Given the description of an element on the screen output the (x, y) to click on. 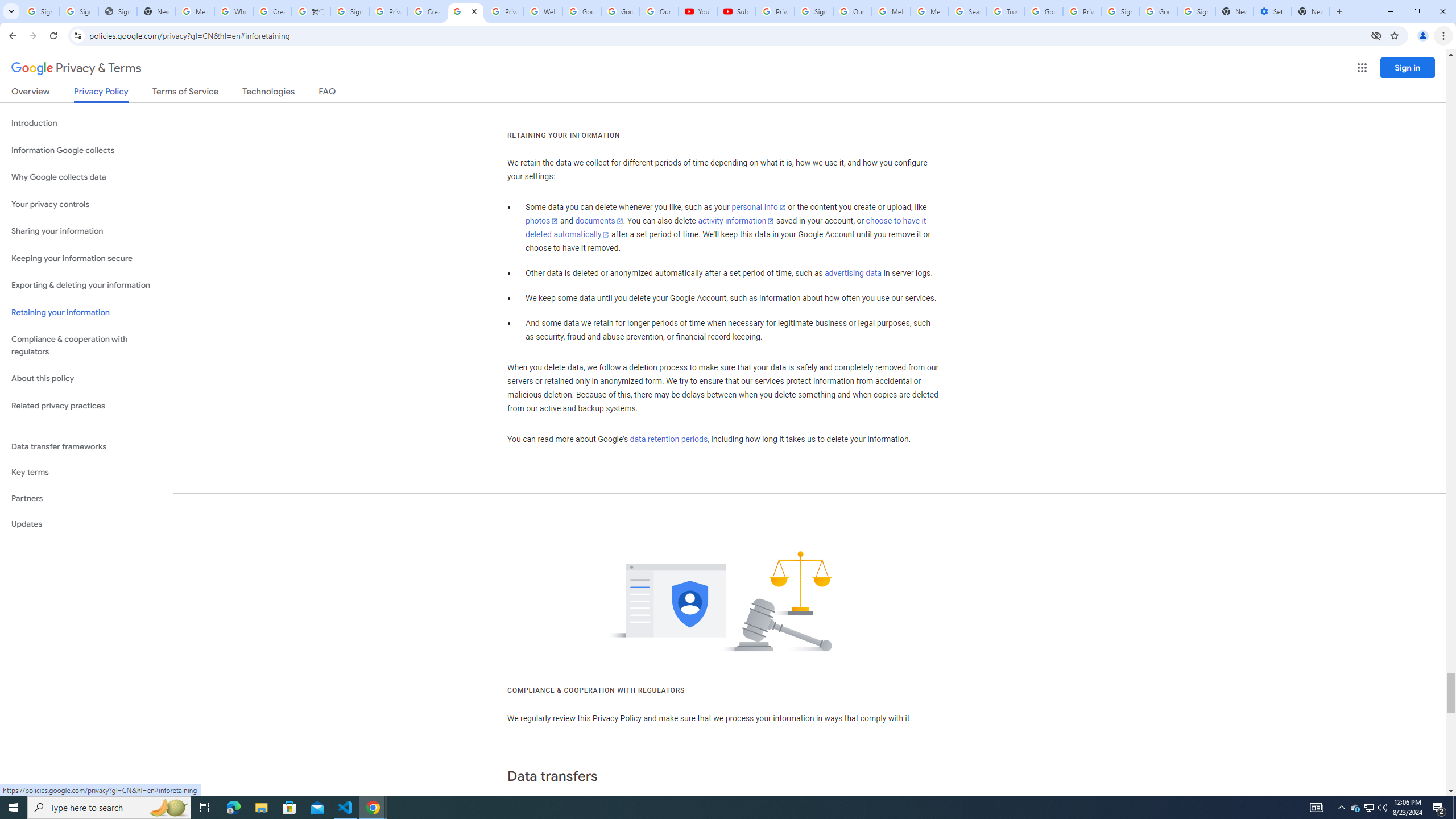
choose to have it deleted automatically (725, 227)
advertising data (852, 273)
documents (599, 221)
photos (542, 221)
YouTube (697, 11)
